Given the description of an element on the screen output the (x, y) to click on. 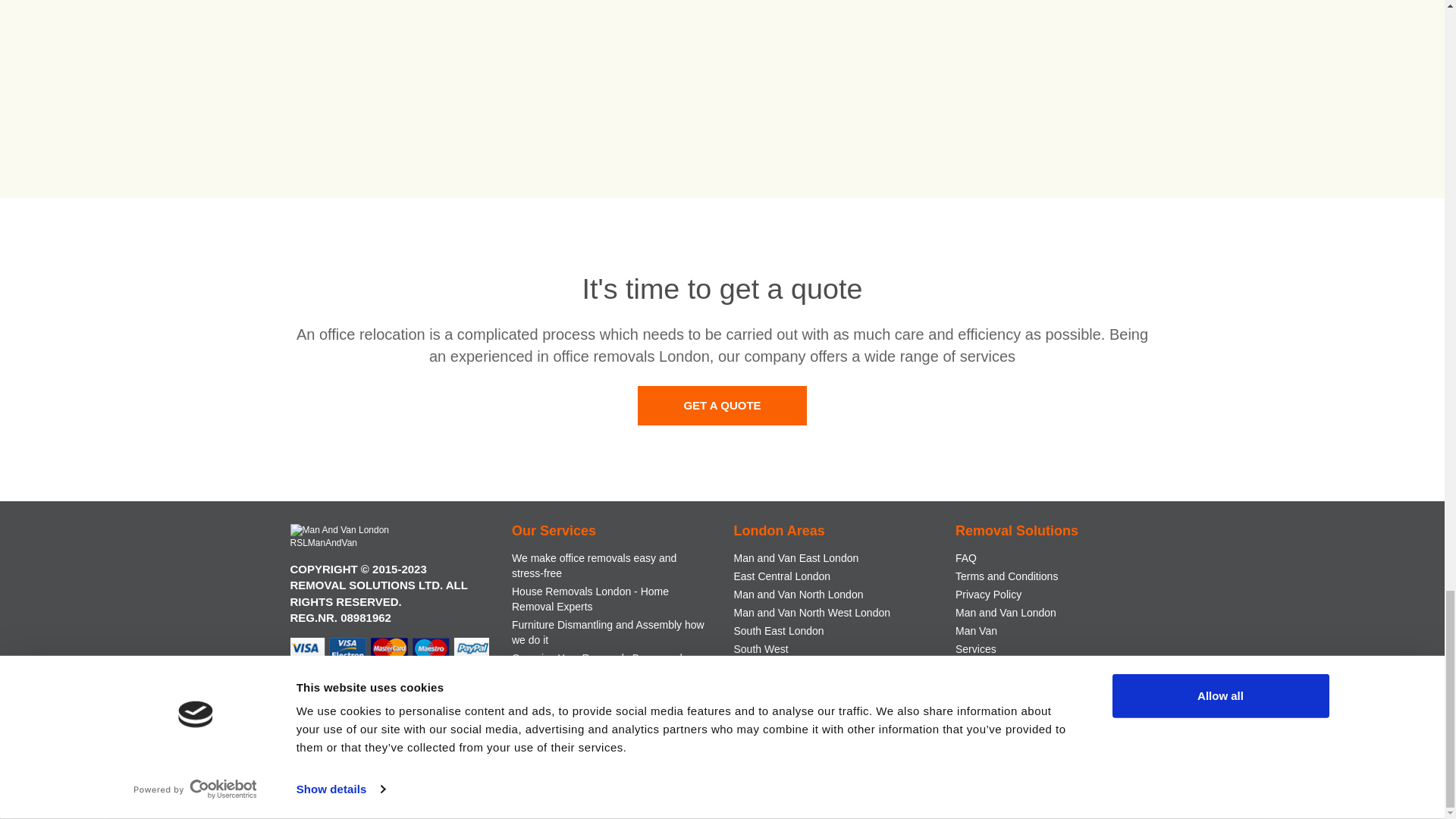
Removal company RSLManAndVan (346, 536)
